Given the description of an element on the screen output the (x, y) to click on. 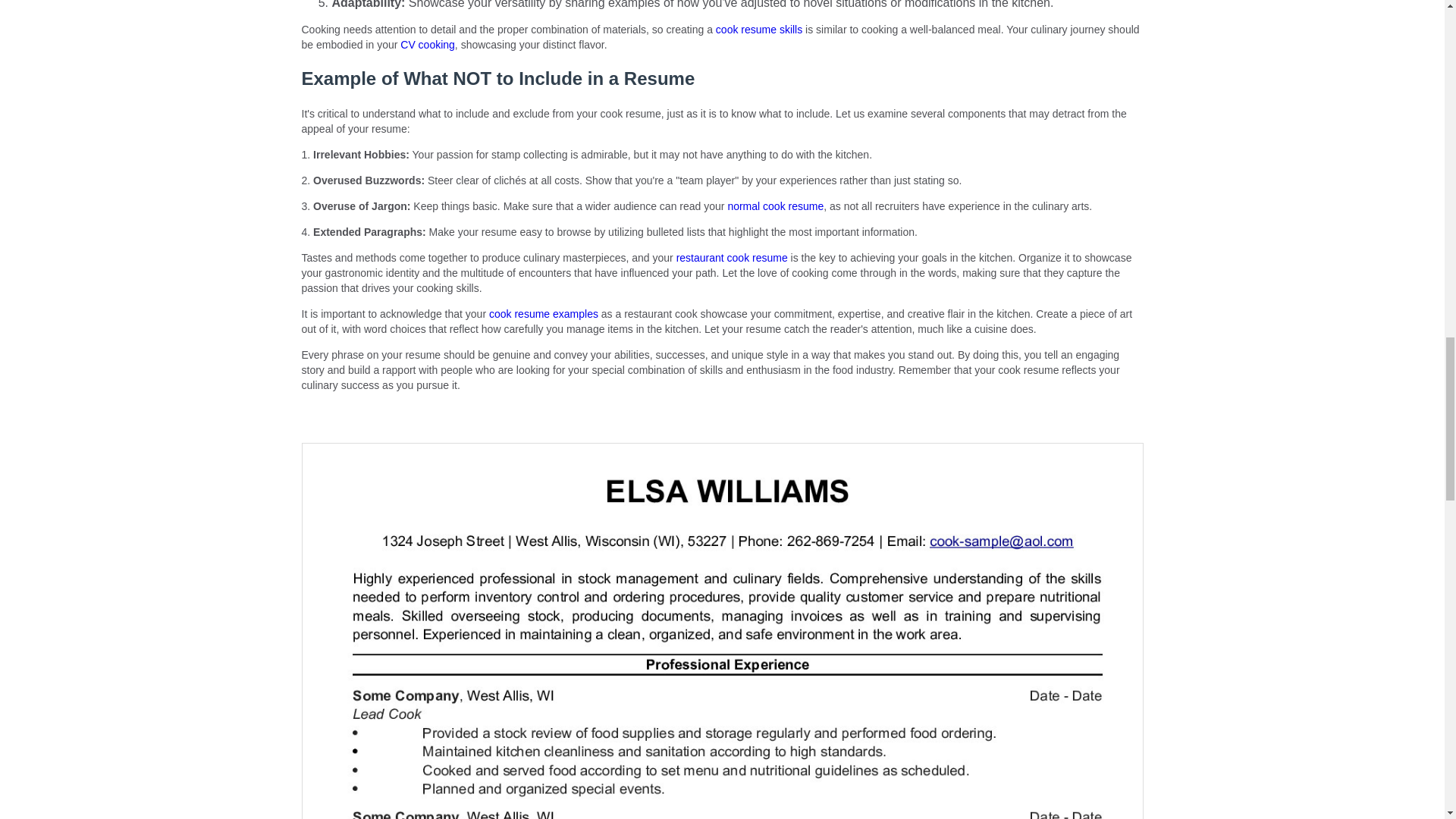
normal cook resume (775, 205)
CV cooking (427, 44)
cook resume examples (543, 313)
cook resume skills (759, 29)
restaurant cook resume (732, 257)
